Given the description of an element on the screen output the (x, y) to click on. 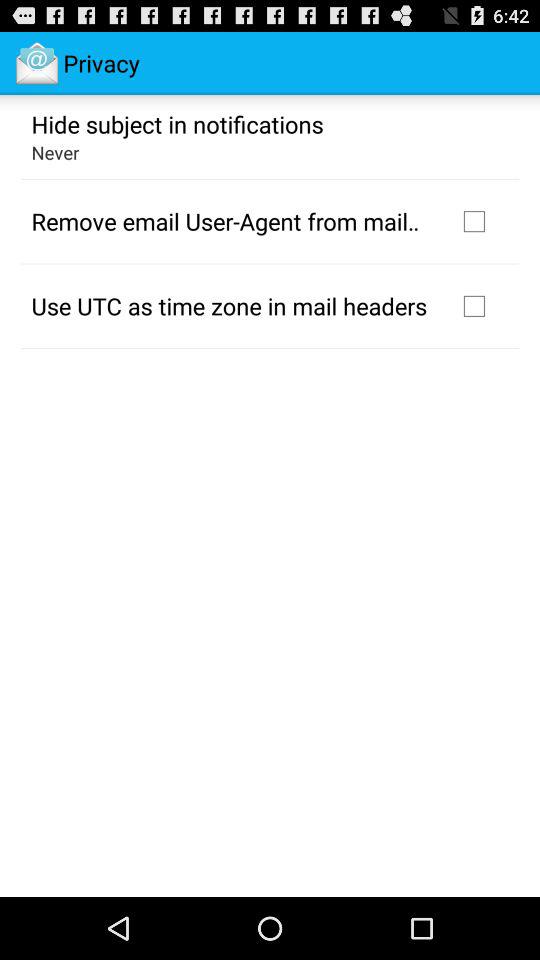
turn on the hide subject in icon (177, 123)
